Given the description of an element on the screen output the (x, y) to click on. 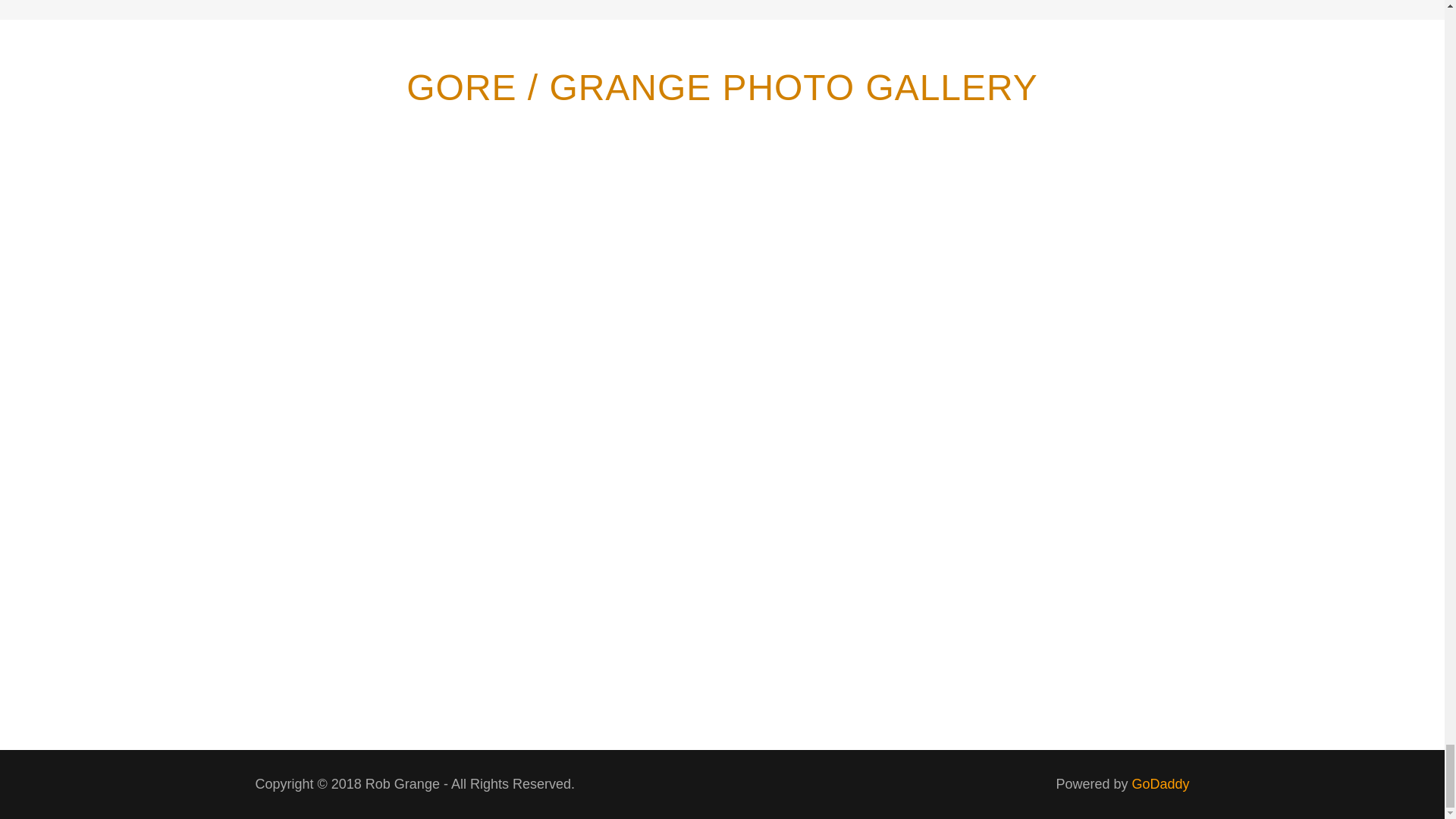
GoDaddy (1160, 783)
